Given the description of an element on the screen output the (x, y) to click on. 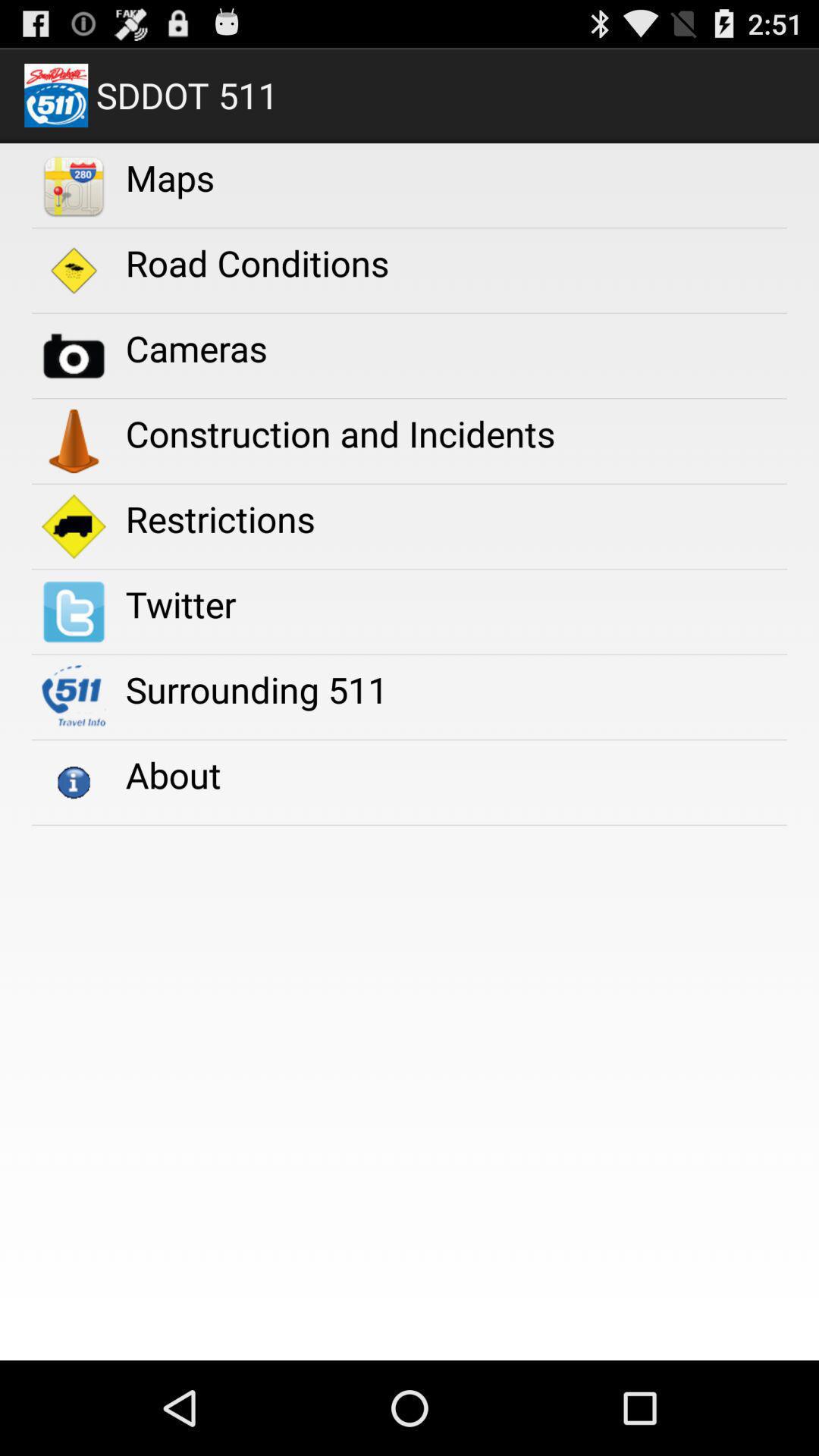
press road conditions (257, 262)
